Given the description of an element on the screen output the (x, y) to click on. 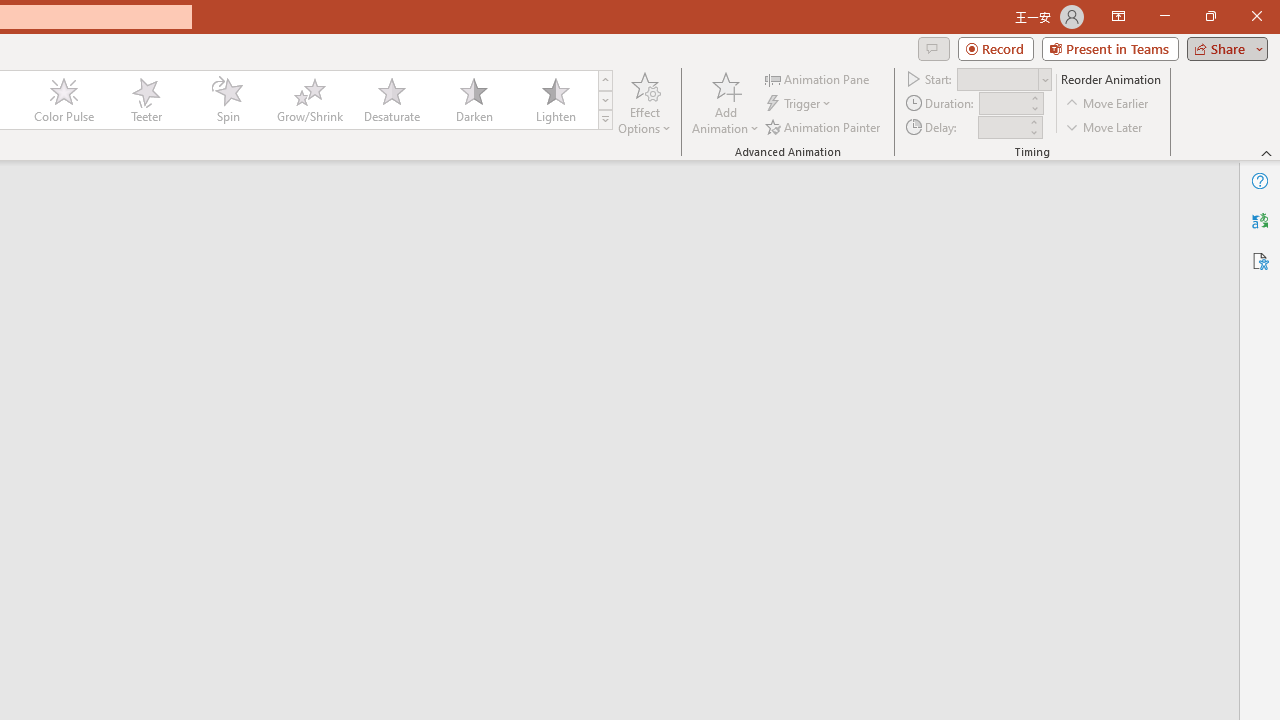
Darken (473, 100)
Add Animation (725, 102)
More (1033, 121)
